Given the description of an element on the screen output the (x, y) to click on. 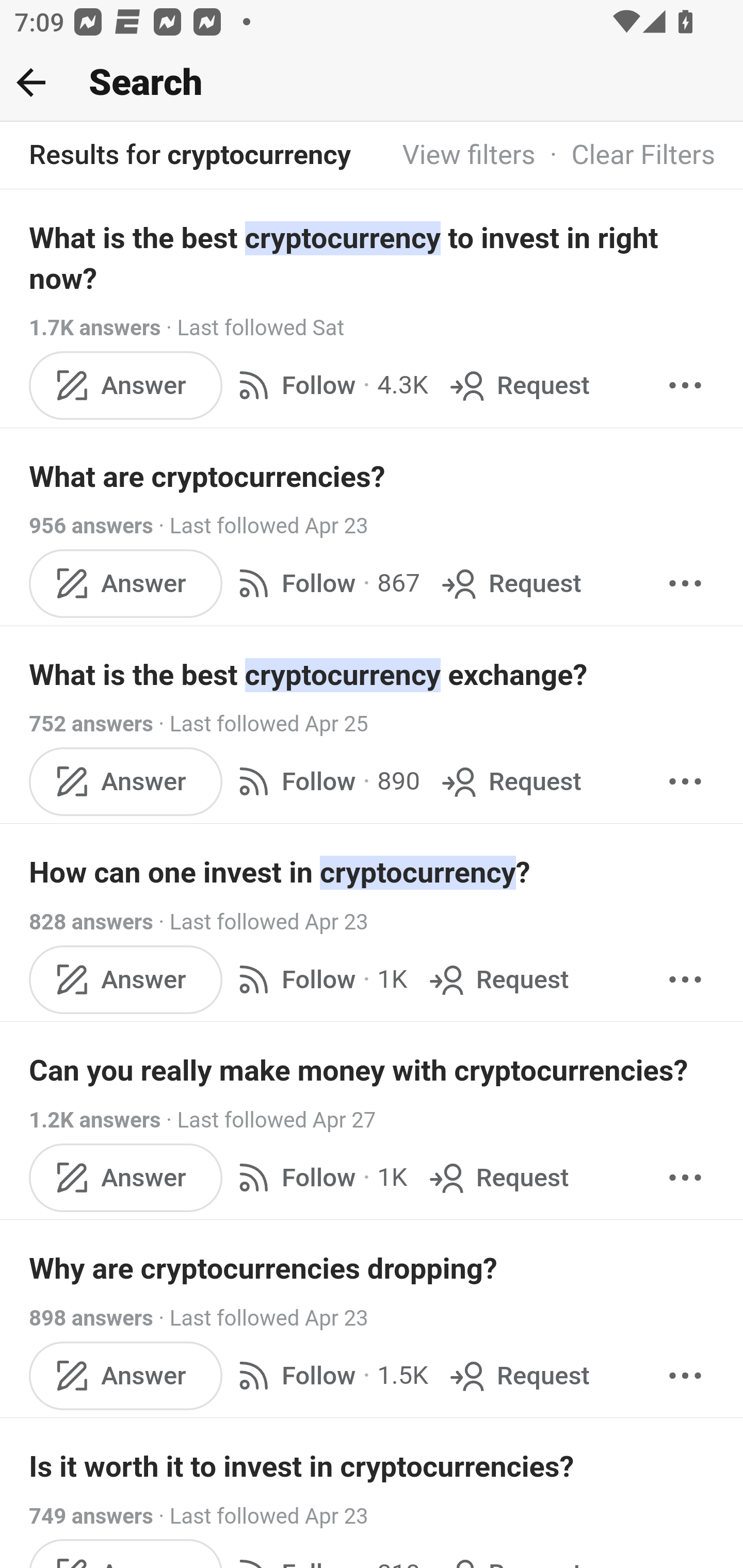
Back Search (371, 82)
Back (30, 82)
View filters (468, 155)
· Clear Filters · Clear Filters (625, 155)
1.7K answers 1.7K  answers (95, 328)
Answer (125, 385)
Follow · 4.3K (329, 385)
Request (517, 385)
More (684, 385)
What are cryptocurrencies? (372, 476)
956 answers 956  answers (90, 525)
Answer (125, 582)
Follow · 867 (324, 582)
Request (509, 582)
More (684, 582)
What is the best cryptocurrency exchange? (372, 674)
752 answers 752  answers (90, 723)
Answer (125, 781)
Follow · 890 (324, 781)
Request (509, 781)
More (684, 781)
How can one invest in cryptocurrency? (372, 872)
828 answers 828  answers (90, 922)
Answer (125, 979)
Follow · 1K (318, 979)
Request (496, 979)
More (684, 979)
Can you really make money with cryptocurrencies? (372, 1070)
1.2K answers 1.2K  answers (95, 1120)
Answer (125, 1176)
Follow · 1K (318, 1176)
Request (496, 1176)
More (684, 1176)
Why are cryptocurrencies dropping? (372, 1268)
898 answers 898  answers (90, 1317)
Answer (125, 1375)
Follow · 1.5K (329, 1375)
Request (517, 1375)
More (684, 1375)
Is it worth it to invest in cryptocurrencies? (372, 1467)
